Given the description of an element on the screen output the (x, y) to click on. 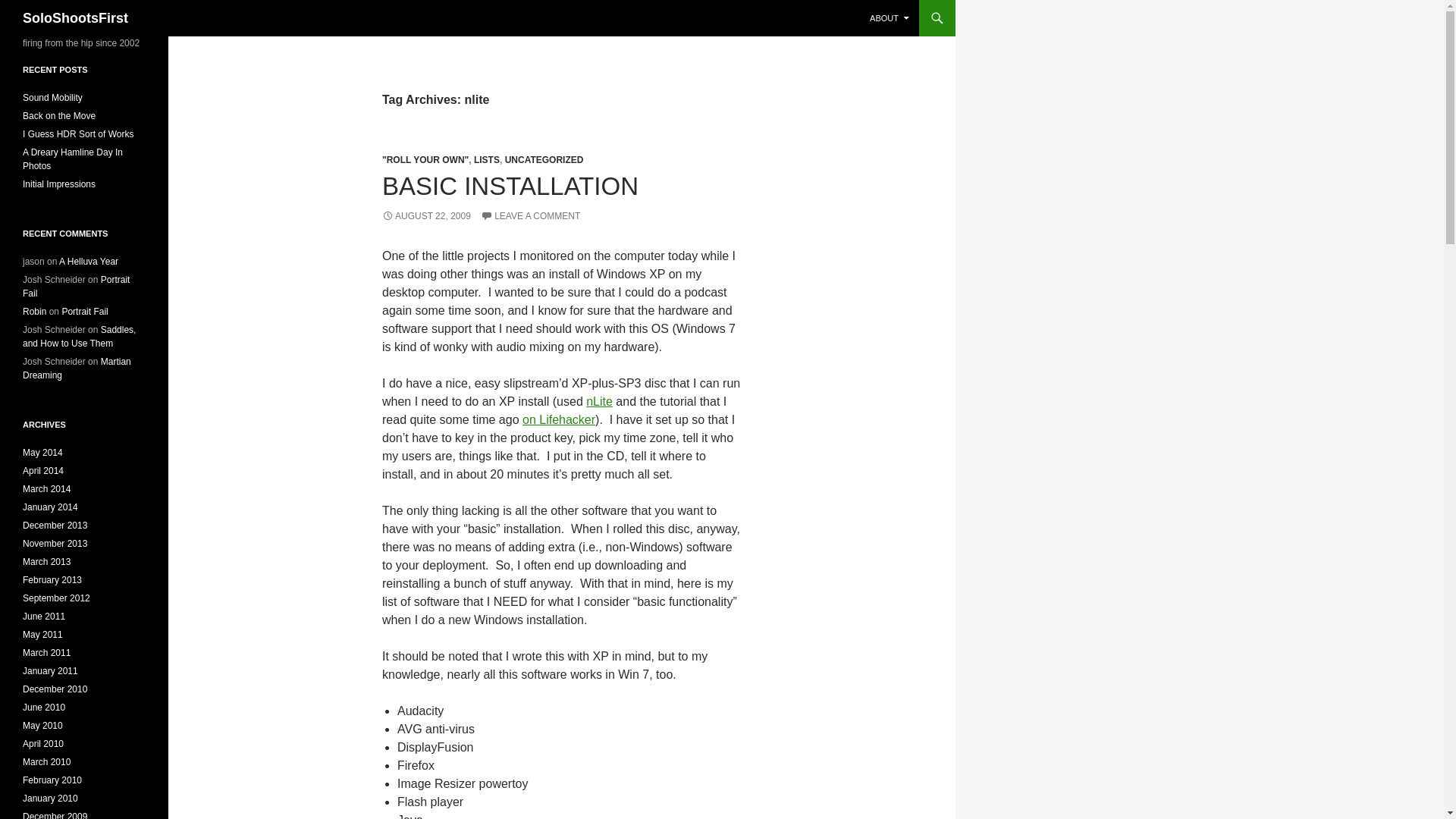
BASIC INSTALLATION (510, 185)
on Lifehacker (558, 419)
Portrait Fail (84, 311)
UNCATEGORIZED (544, 159)
I Guess HDR Sort of Works (78, 133)
nLite (599, 400)
Saddles, and How to Use Them (79, 336)
Back on the Move (59, 115)
Robin (34, 311)
May 2014 (42, 452)
A Helluva Year (88, 261)
SoloShootsFirst (75, 18)
LEAVE A COMMENT (529, 215)
A Dreary Hamline Day In Photos (72, 159)
Martian Dreaming (77, 368)
